Given the description of an element on the screen output the (x, y) to click on. 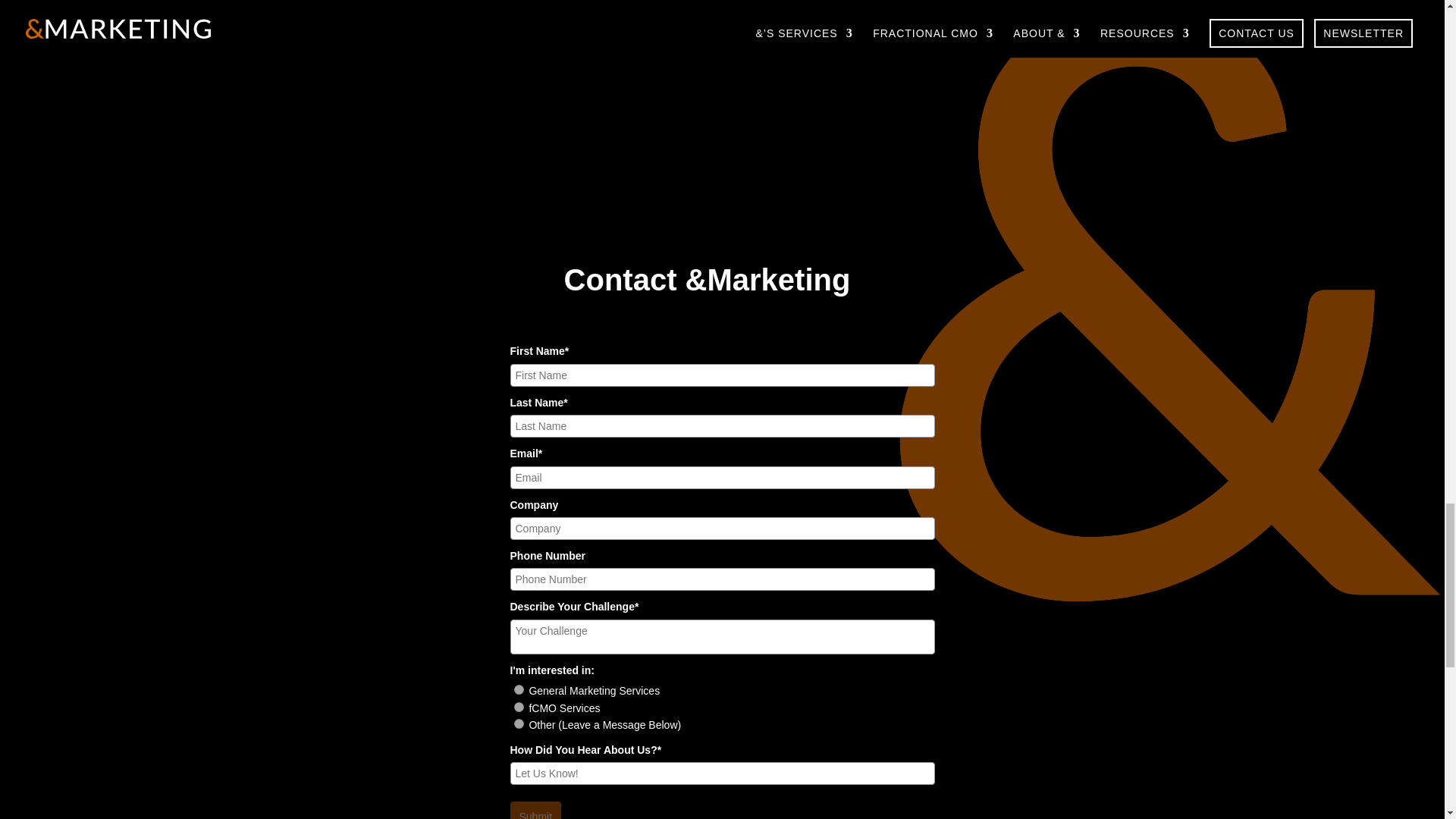
General Marketing Services (518, 689)
fCMO Services (518, 706)
